Given the description of an element on the screen output the (x, y) to click on. 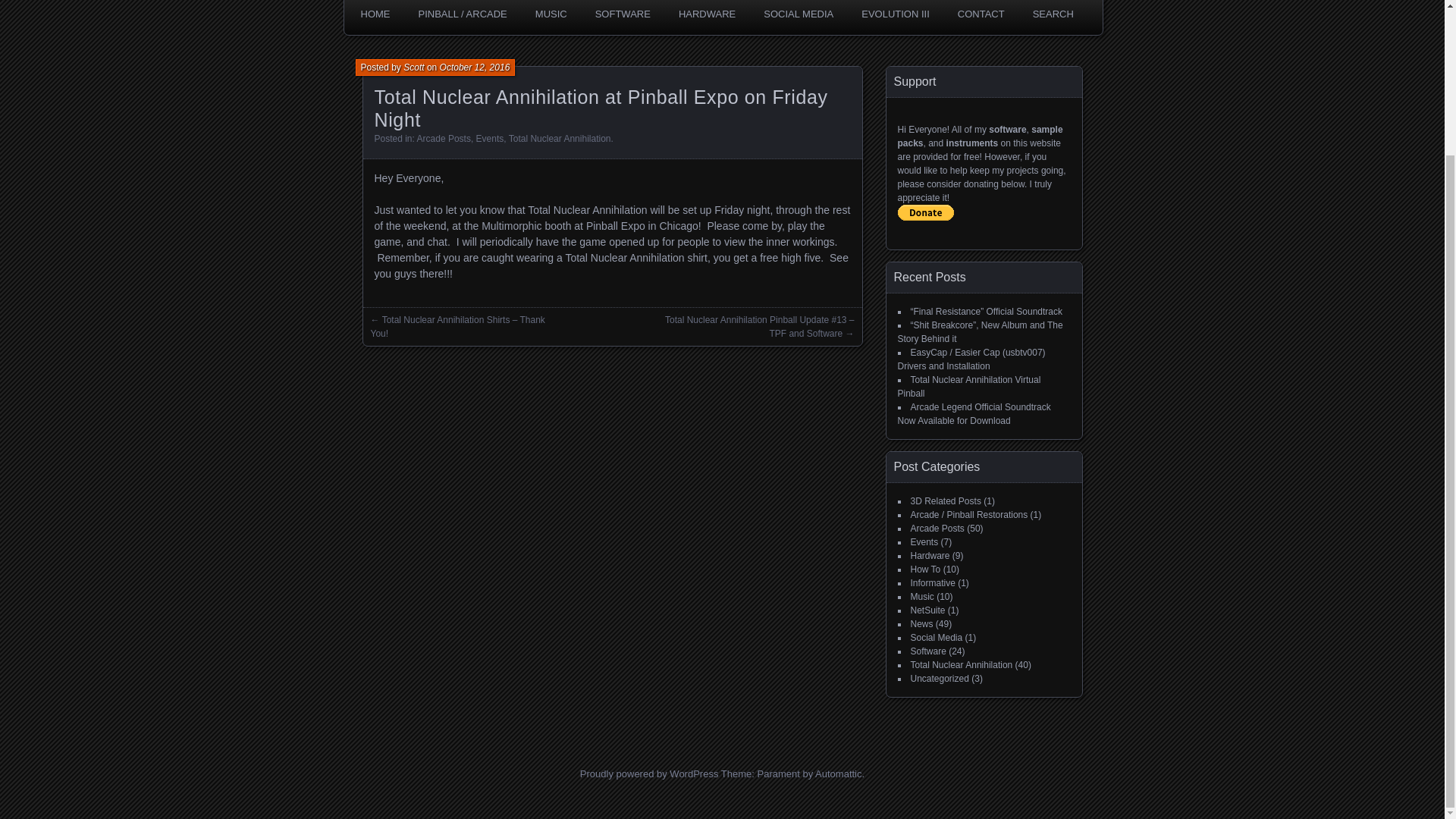
EVOLUTION III (895, 14)
View all posts by Scott (413, 67)
MUSIC (551, 14)
Events (489, 138)
Scott (413, 67)
Arcade Posts (443, 138)
HOME (375, 14)
SOFTWARE (622, 14)
CONTACT (981, 14)
HARDWARE (706, 14)
